Given the description of an element on the screen output the (x, y) to click on. 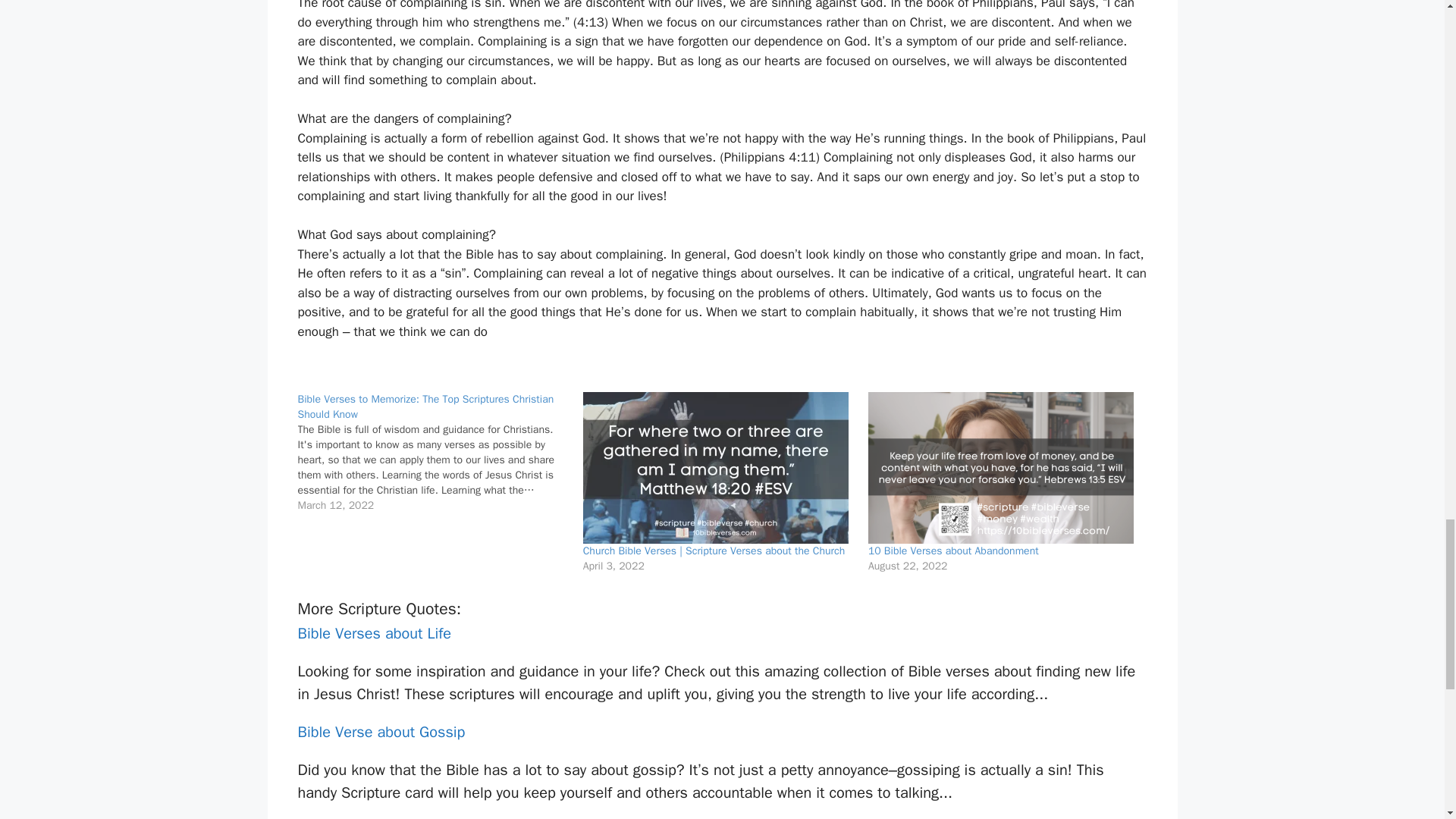
10 Bible Verses about Abandonment (953, 550)
Bible Verse about Gossip (380, 732)
10 Bible Verses about Abandonment (953, 550)
Bible Verses about Life (374, 633)
Bible Verse about Gossip (380, 732)
10 Bible Verses about Abandonment (1002, 467)
Bible Verses about Life (374, 633)
